Given the description of an element on the screen output the (x, y) to click on. 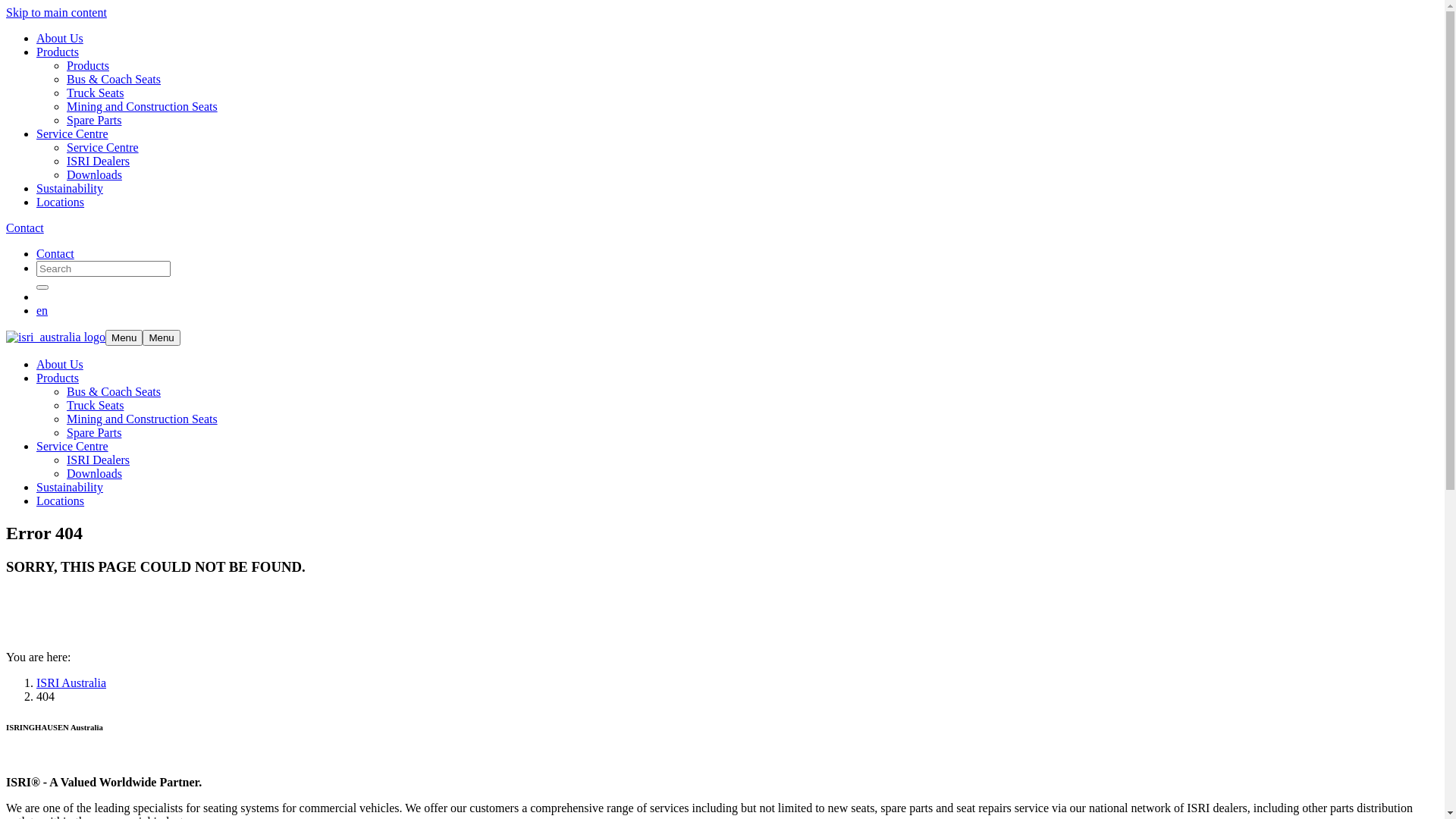
Downloads Element type: text (94, 174)
en Element type: text (41, 310)
Service Centre Element type: text (72, 445)
Skip to main content Element type: text (56, 12)
About Us Element type: text (59, 363)
Spare Parts Element type: text (93, 432)
Service Centre Element type: text (102, 147)
Locations Element type: text (60, 201)
About Us Element type: text (59, 37)
Locations Element type: text (60, 500)
Menu Element type: text (123, 337)
Sustainability Element type: text (69, 188)
Products Element type: text (57, 51)
Contact Element type: text (24, 227)
Service Centre Element type: text (72, 133)
Bus & Coach Seats Element type: text (113, 391)
Truck Seats Element type: text (94, 404)
Truck Seats Element type: text (94, 92)
Mining and Construction Seats Element type: text (141, 418)
Mining and Construction Seats Element type: text (141, 106)
Products Element type: text (57, 377)
Products Element type: text (87, 65)
Contact Element type: text (55, 253)
Menu Element type: text (160, 337)
ISRI Dealers Element type: text (97, 160)
ISRI Dealers Element type: text (97, 459)
Downloads Element type: text (94, 473)
Sustainability Element type: text (69, 486)
Bus & Coach Seats Element type: text (113, 78)
Spare Parts Element type: text (93, 119)
ISRI Australia Element type: text (71, 682)
